Given the description of an element on the screen output the (x, y) to click on. 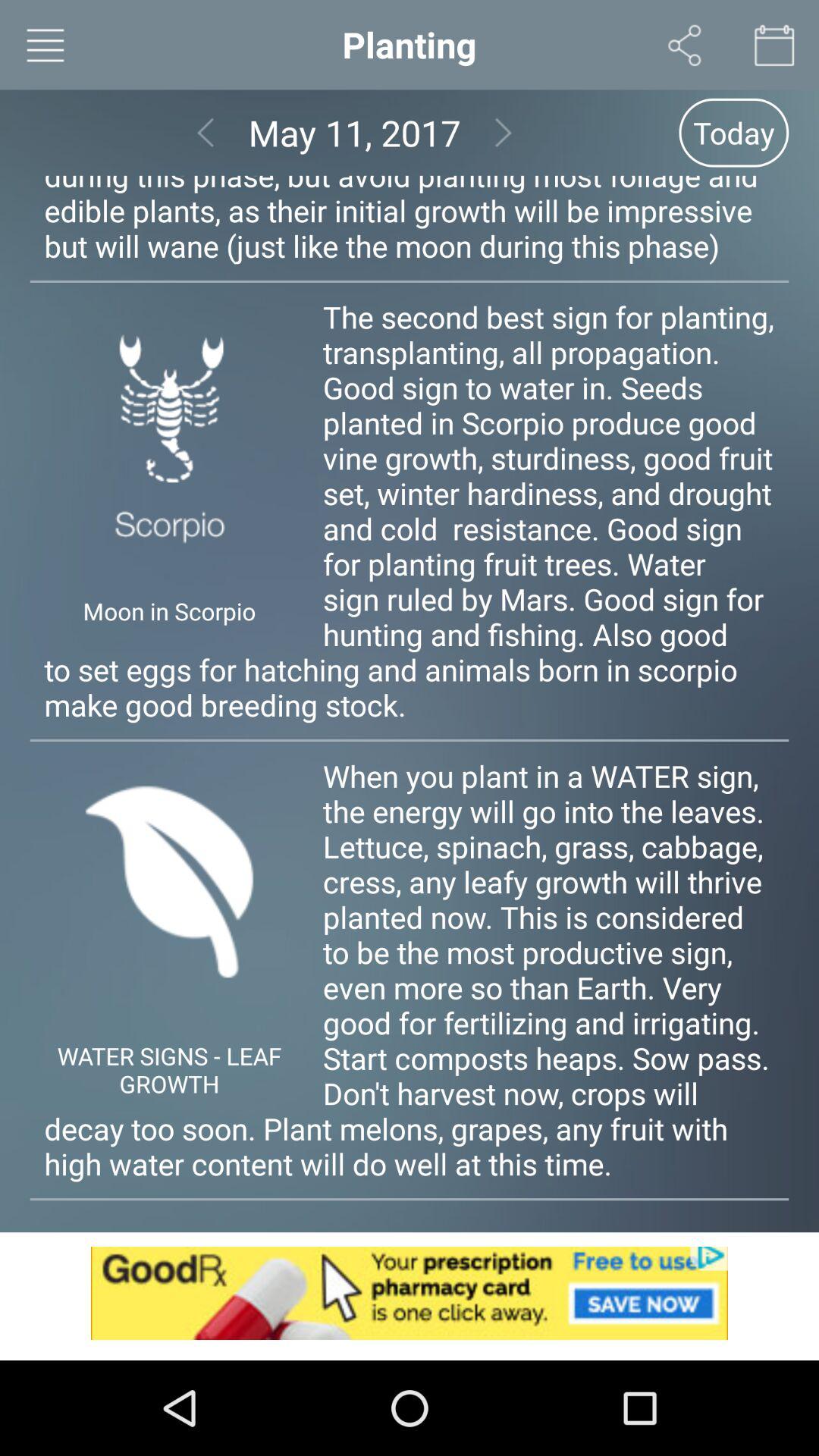
go to next day (503, 132)
